Given the description of an element on the screen output the (x, y) to click on. 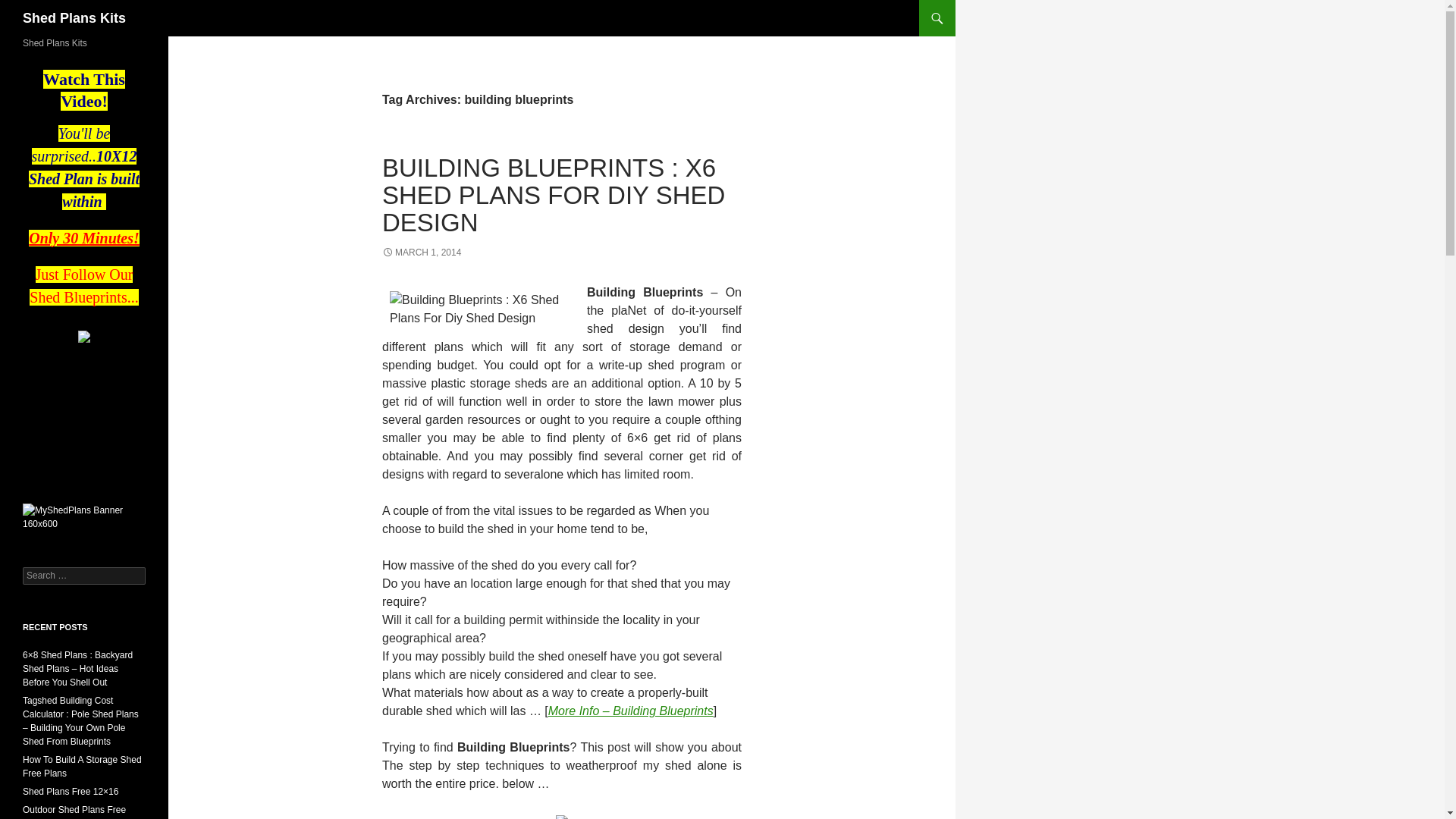
How To Build A Storage Shed Free Plans (82, 766)
Search (30, 8)
MARCH 1, 2014 (421, 252)
Shed Plans Kits (74, 18)
BUILDING BLUEPRINTS : X6 SHED PLANS FOR DIY SHED DESIGN (553, 194)
building blueprints (630, 710)
building blueprints (561, 816)
